Given the description of an element on the screen output the (x, y) to click on. 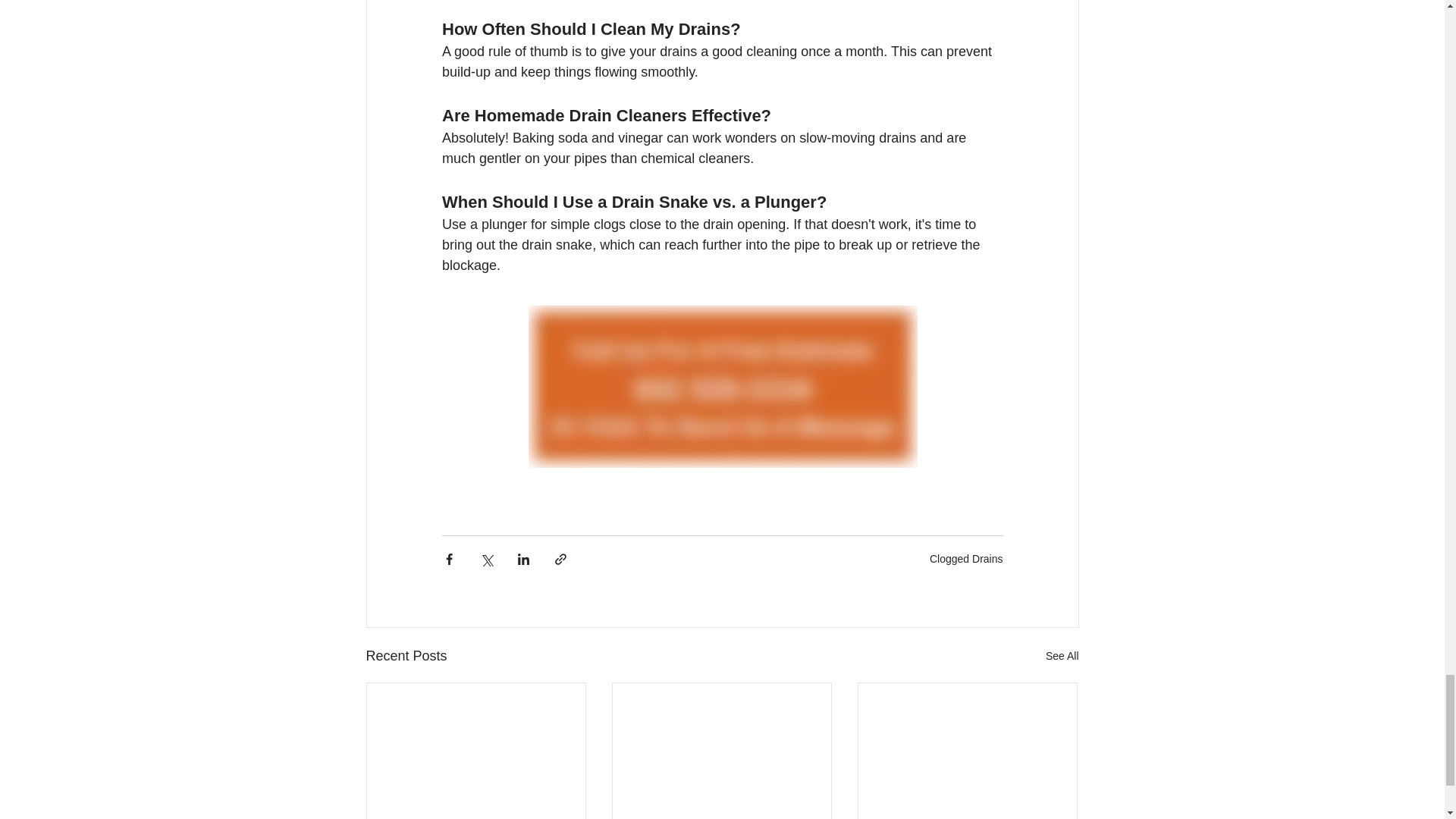
See All (1061, 656)
Clogged Drains (966, 558)
